Given the description of an element on the screen output the (x, y) to click on. 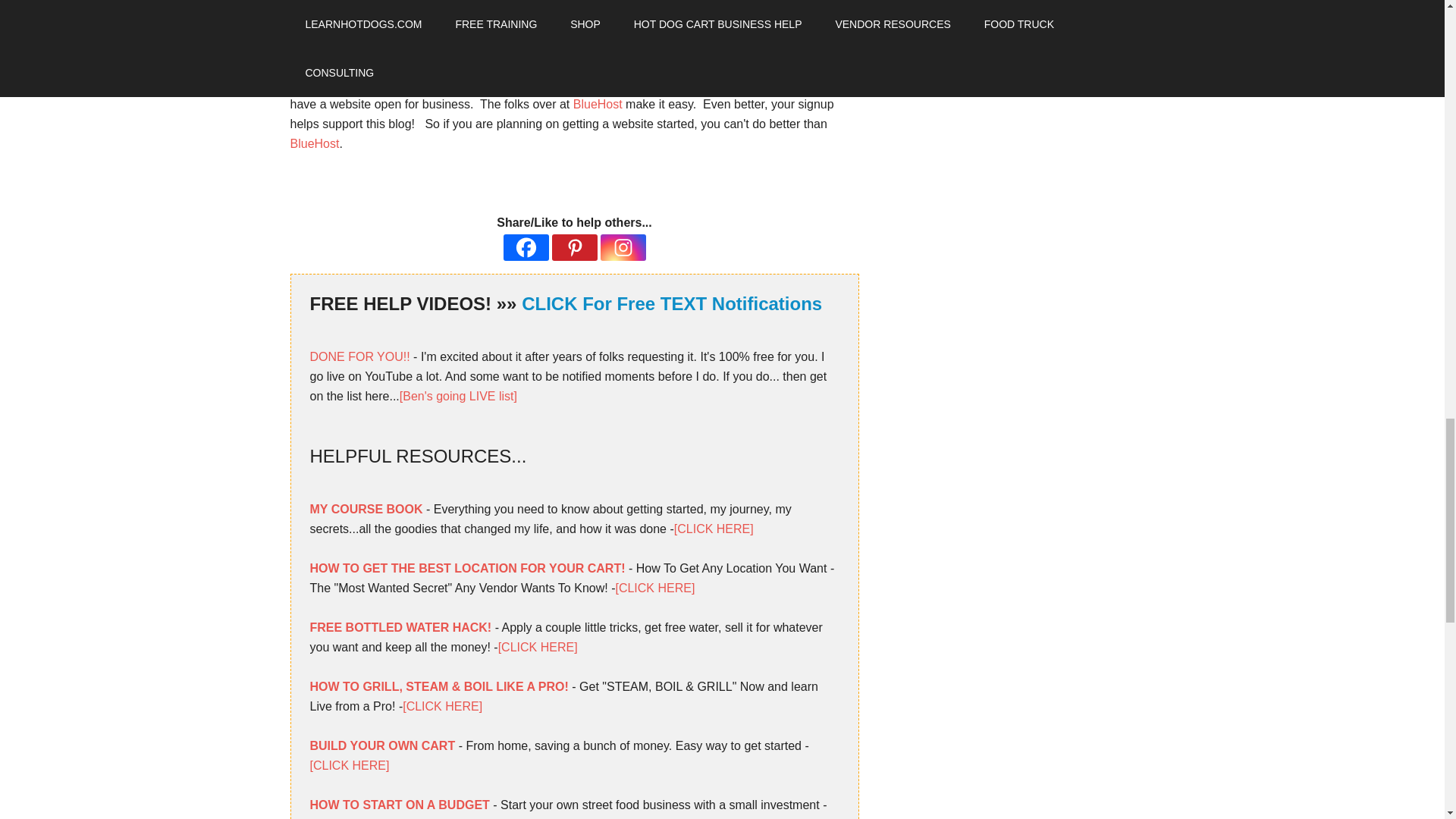
DONE FOR YOU!! (358, 356)
Instagram (622, 247)
CLICK For Free TEXT Notifications (671, 303)
BUILD YOUR OWN CART (381, 745)
HOW TO GET THE BEST LOCATION FOR YOUR CART! (466, 567)
Facebook (525, 247)
BlueHost (314, 143)
FREE BOTTLED WATER HACK! (400, 626)
BlueHost (598, 103)
BlueHost (462, 44)
